Given the description of an element on the screen output the (x, y) to click on. 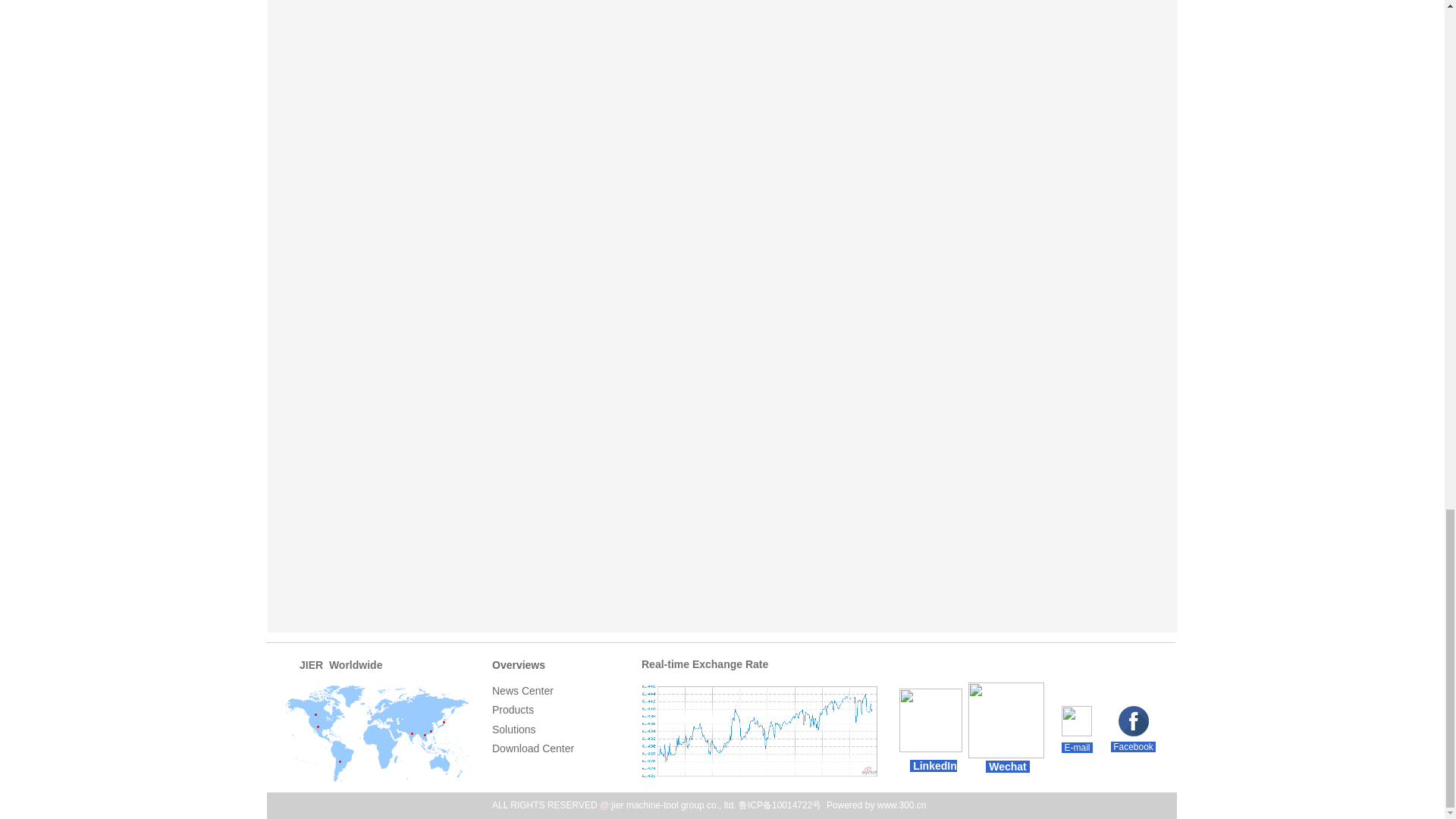
Website construction (876, 805)
